Given the description of an element on the screen output the (x, y) to click on. 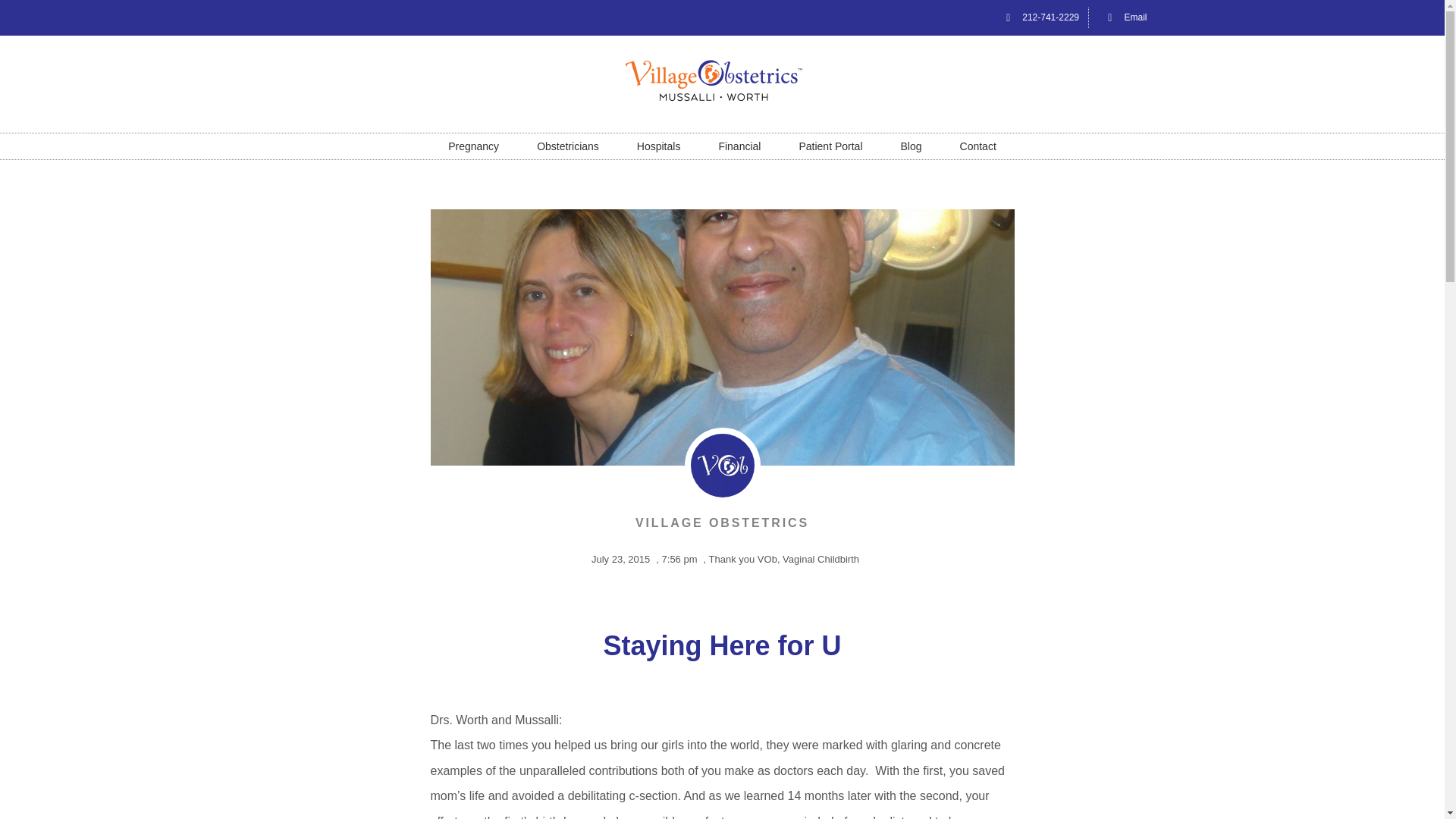
Hospitals (658, 145)
Contact (977, 145)
Thank you VOb (743, 559)
Email (1123, 17)
Pregnancy (473, 145)
212-741-2229 (1037, 17)
Financial (738, 145)
Blog (911, 145)
Obstetricians (567, 145)
